Given the description of an element on the screen output the (x, y) to click on. 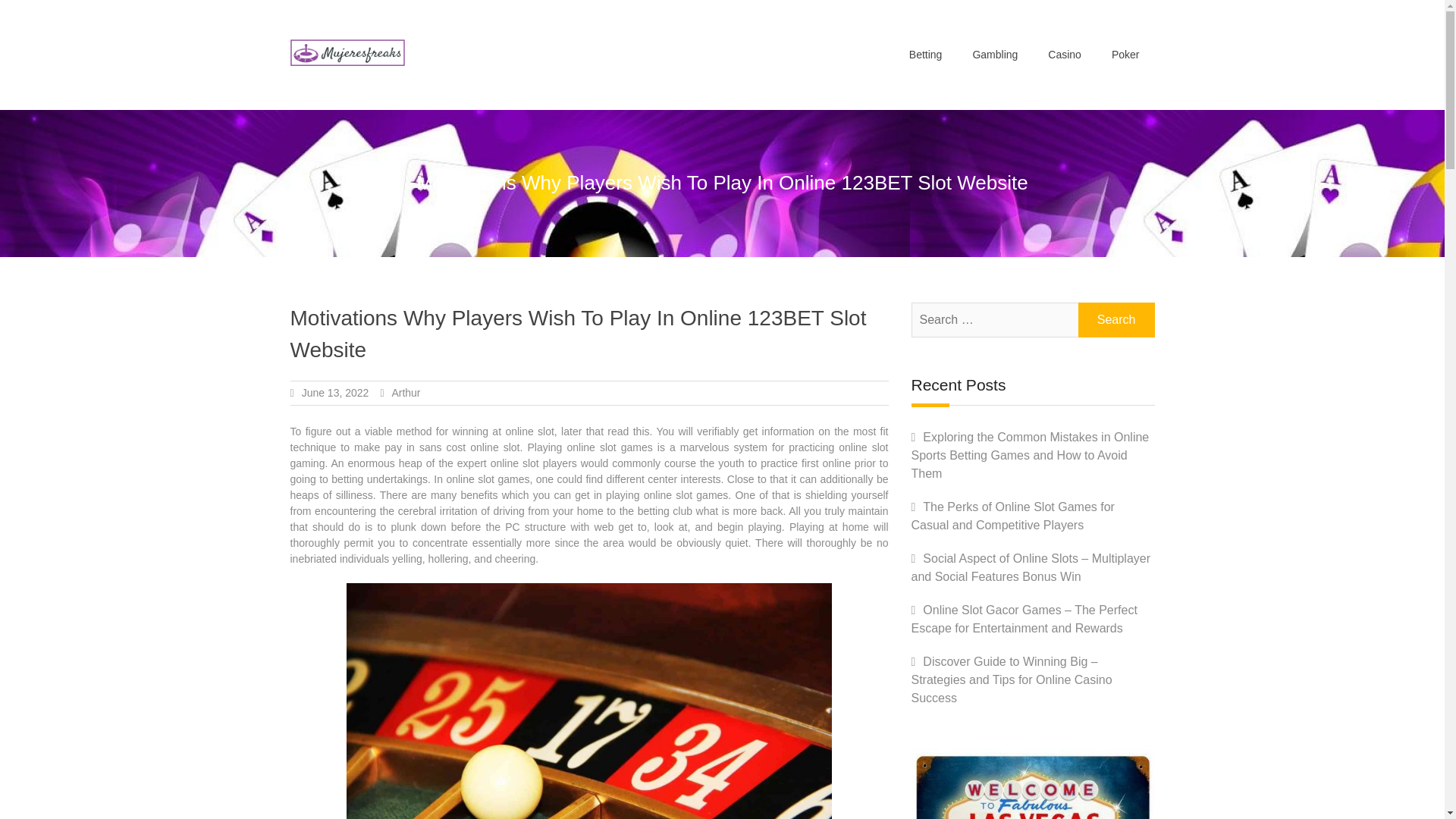
Poker (1125, 55)
Arthur (405, 392)
Search (1116, 319)
Search (1116, 319)
Casino (1064, 55)
Gambling (994, 55)
June 13, 2022 (335, 392)
Betting (925, 55)
